Given the description of an element on the screen output the (x, y) to click on. 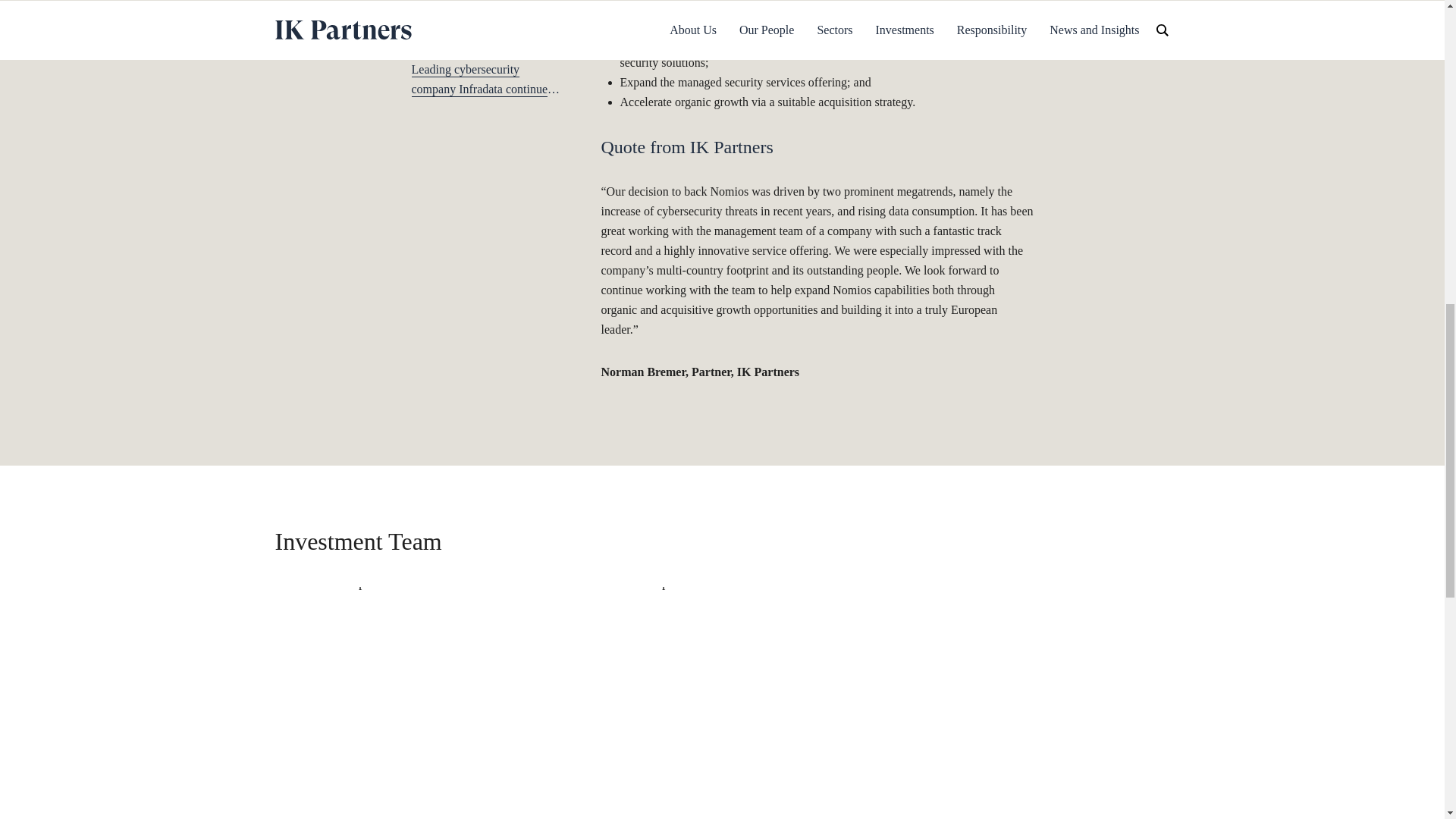
IK invests in Infradata (464, 46)
